Given the description of an element on the screen output the (x, y) to click on. 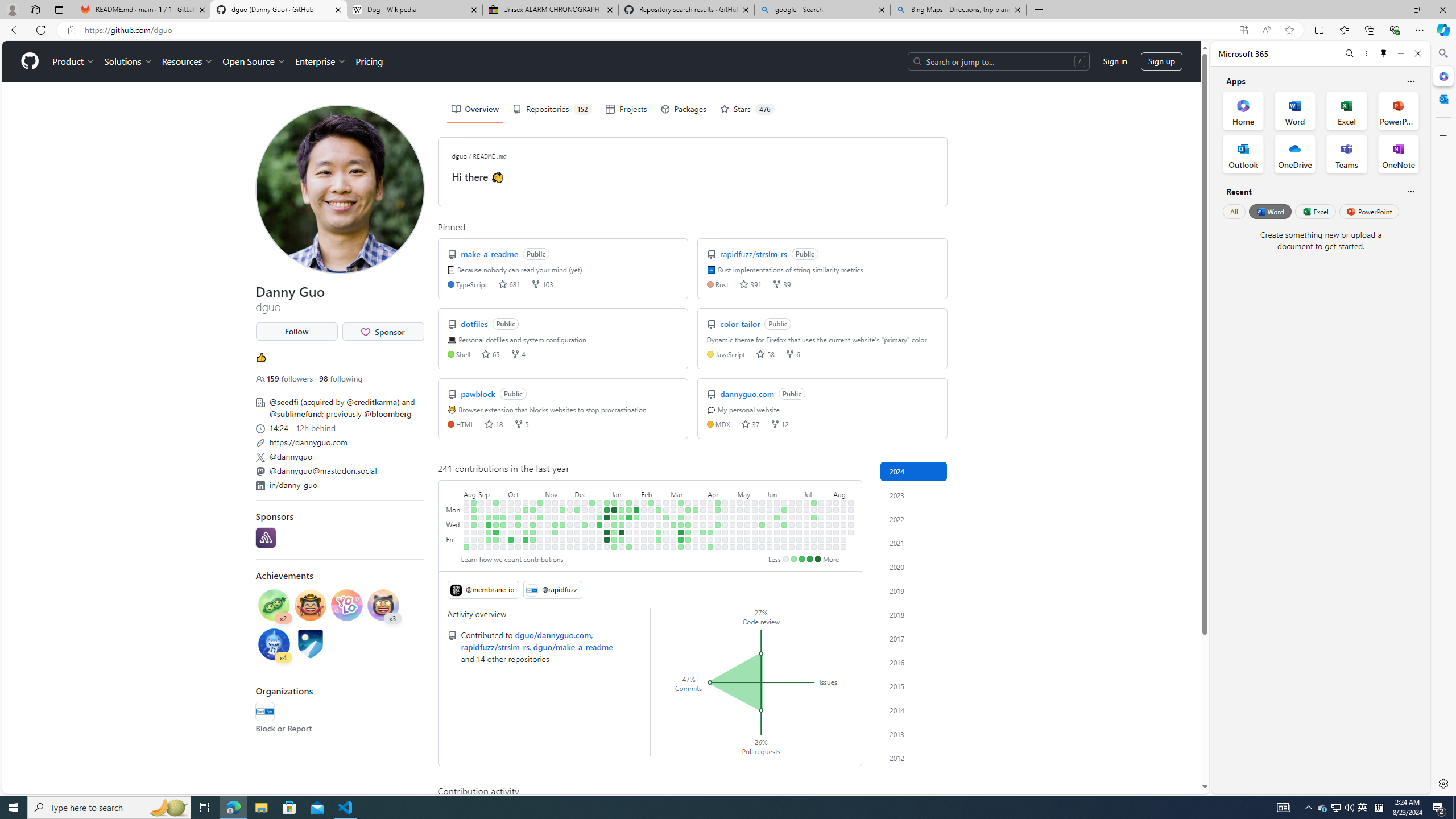
No contributions on June 15th. (777, 546)
2021 (913, 542)
No contributions on June 13th. (777, 531)
No contributions on May 2nd. (732, 531)
No contributions on July 19th. (813, 539)
No contributions on October 22nd. (532, 502)
@getsentry (264, 537)
Contribution activity in 2024 (913, 471)
1 contribution on September 26th. (503, 517)
2 contributions on April 15th. (717, 509)
No contributions on September 3rd. (481, 502)
No contributions on February 25th. (665, 502)
1 contribution on March 20th. (688, 524)
No contributions on August 17th. (843, 546)
Achievement: Arctic Code Vault Contributor (310, 645)
